Given the description of an element on the screen output the (x, y) to click on. 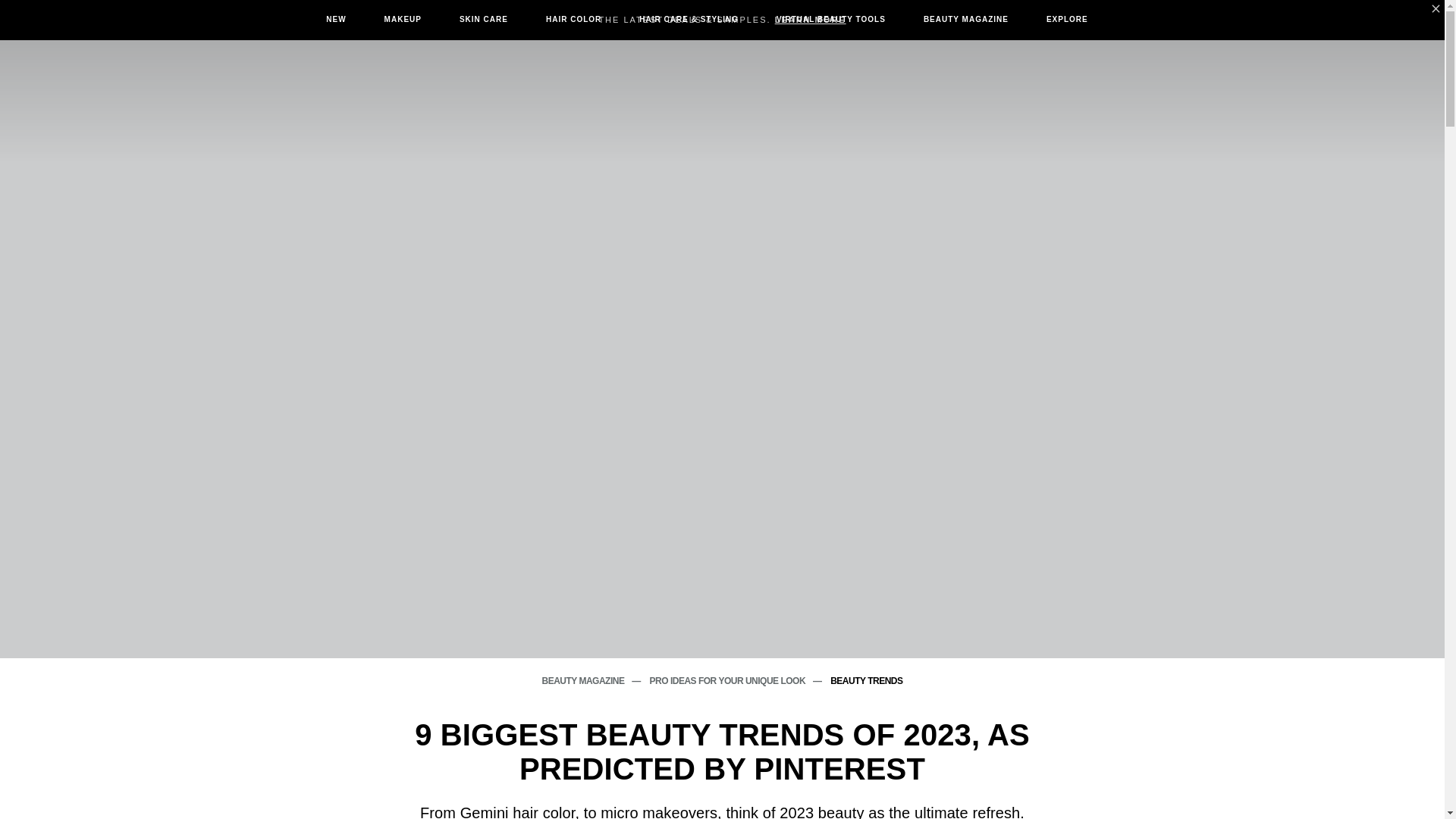
MAKEUP (402, 19)
SKIN CARE (483, 19)
LEARN MORE (809, 19)
NEW (335, 19)
